Given the description of an element on the screen output the (x, y) to click on. 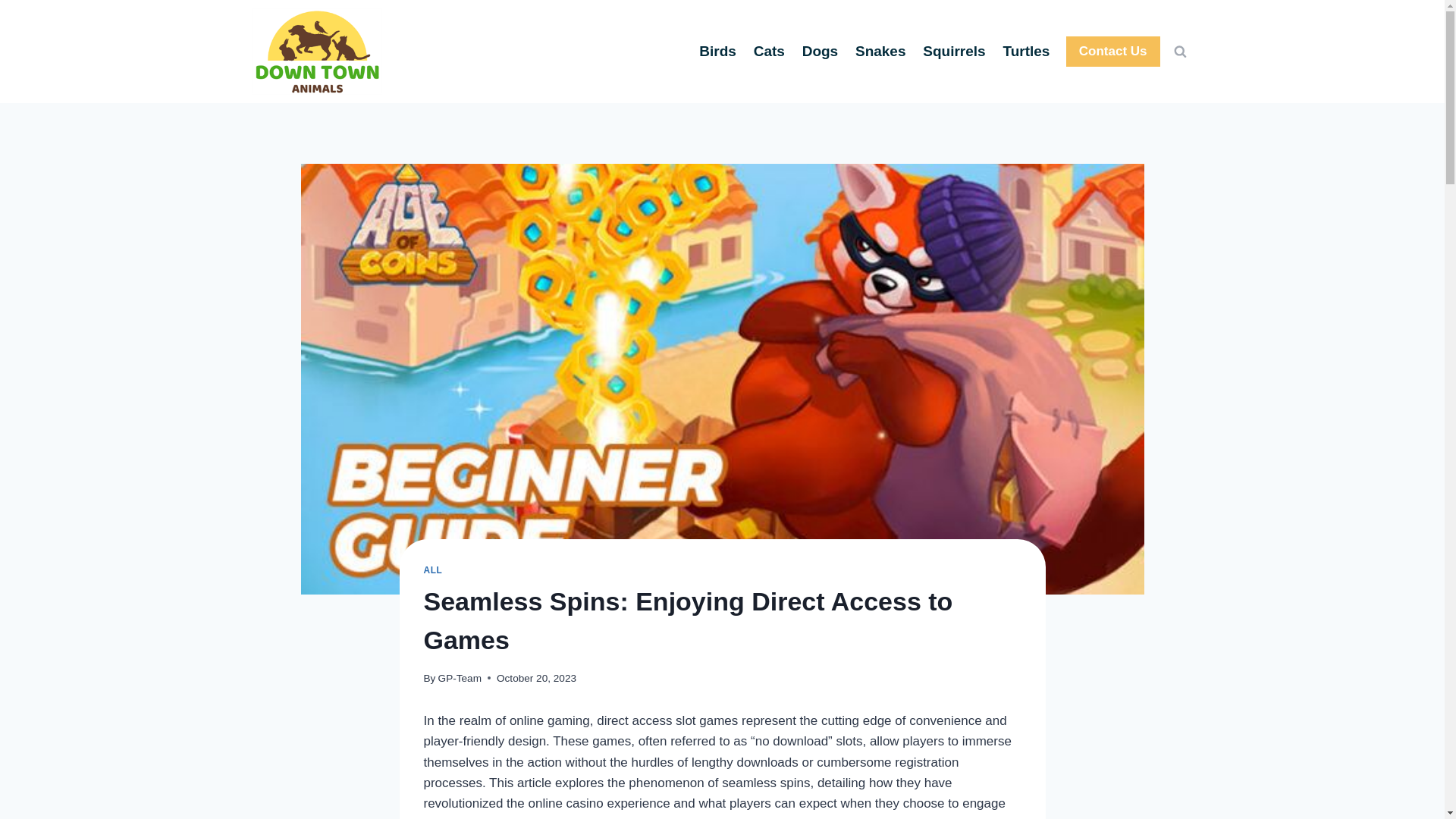
Snakes (880, 51)
ALL (432, 570)
Birds (717, 51)
Turtles (1026, 51)
Contact Us (1112, 51)
Dogs (819, 51)
Cats (768, 51)
Squirrels (954, 51)
GP-Team (459, 677)
